Given the description of an element on the screen output the (x, y) to click on. 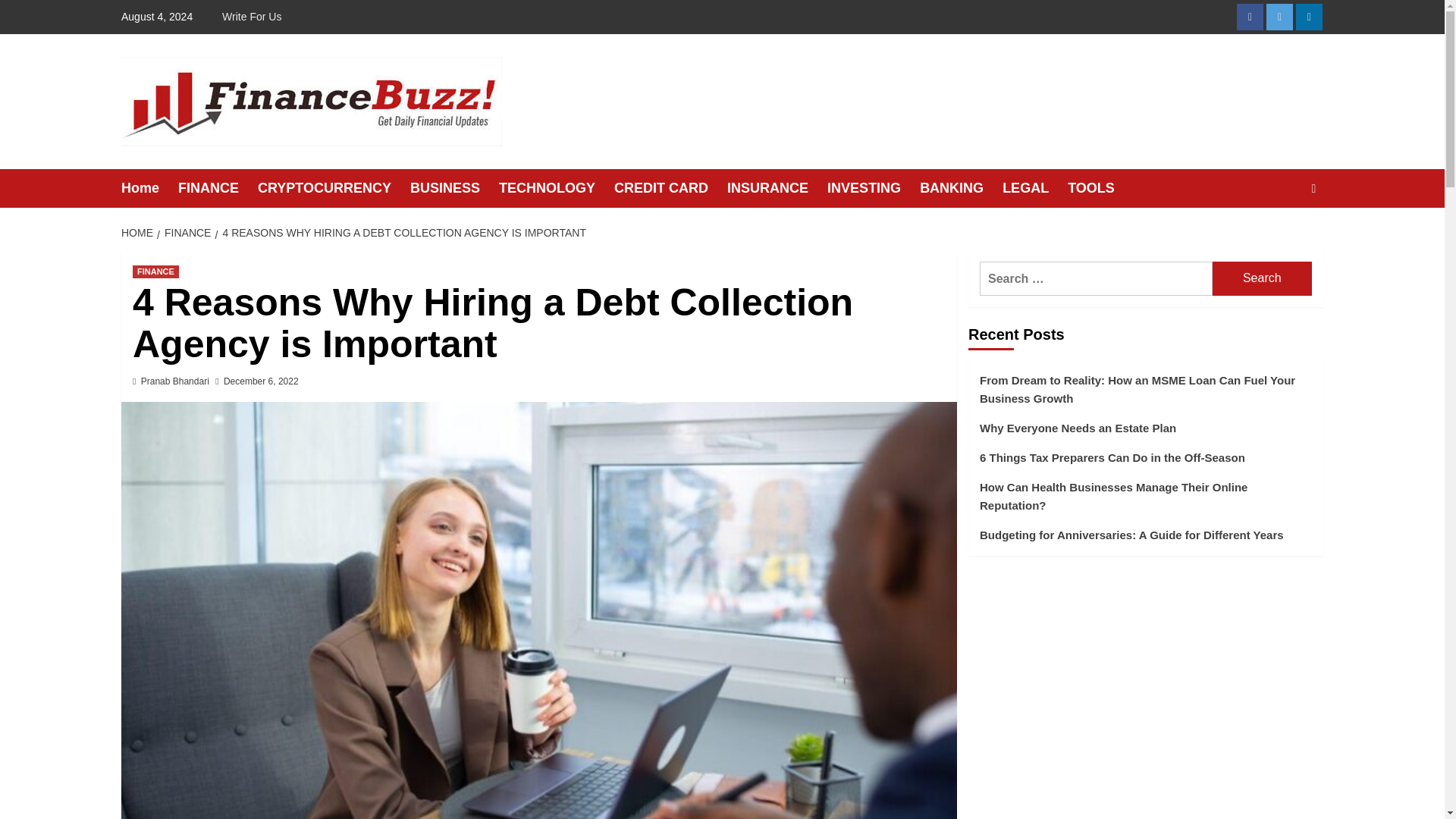
Write For Us (255, 17)
Search (1261, 278)
FINANCE (217, 188)
FINANCE (155, 271)
BANKING (961, 188)
Pranab Bhandari (175, 380)
FINANCE (185, 232)
CREDIT CARD (670, 188)
TECHNOLOGY (556, 188)
4 REASONS WHY HIRING A DEBT COLLECTION AGENCY IS IMPORTANT (401, 232)
INVESTING (873, 188)
Twitter (1279, 17)
December 6, 2022 (261, 380)
LEGAL (1035, 188)
Linkedin (1308, 17)
